Given the description of an element on the screen output the (x, y) to click on. 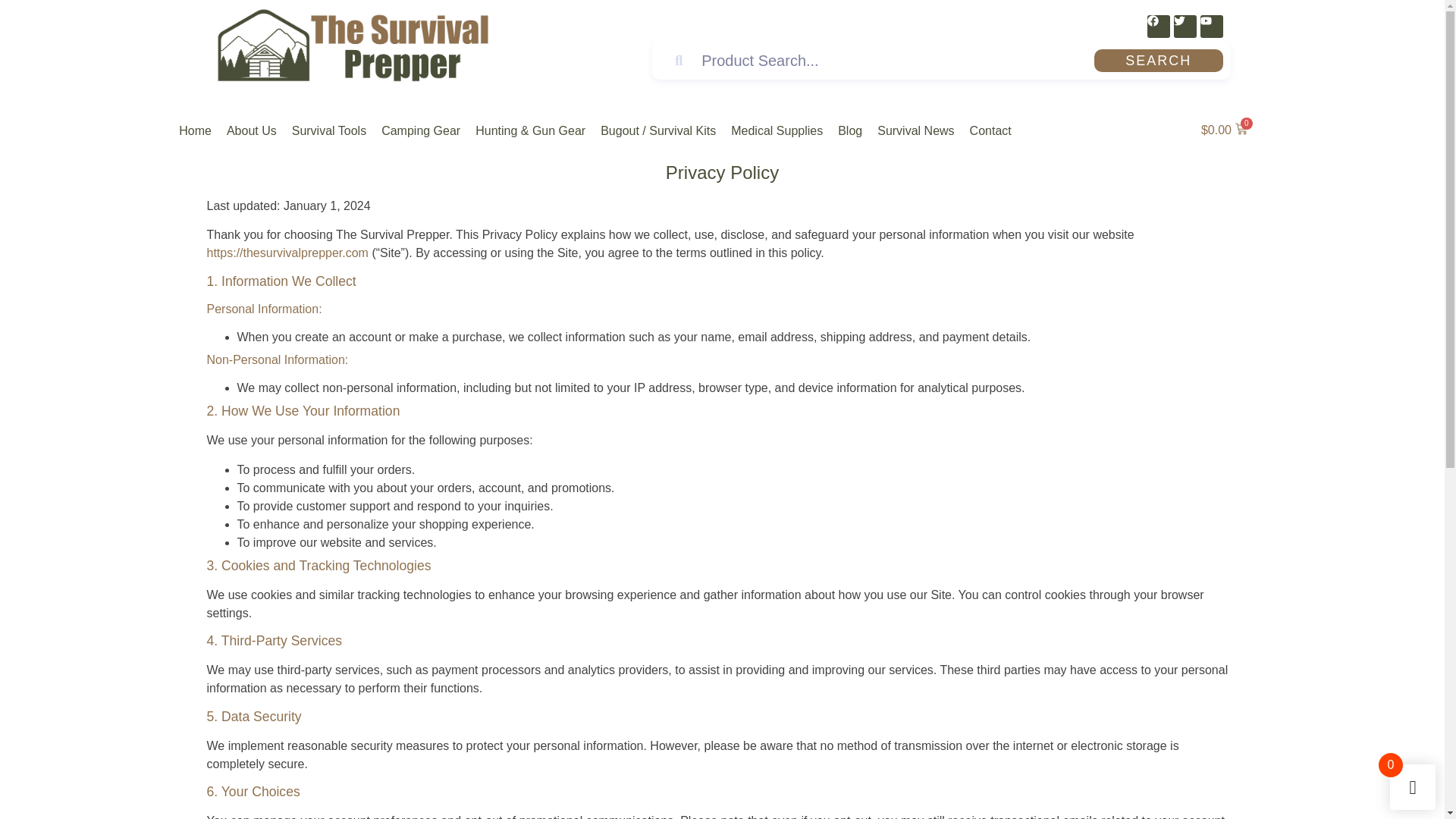
About Us (251, 130)
Medical Supplies (776, 130)
Survival Tools (329, 130)
Survival News (915, 130)
Home (195, 130)
Contact (990, 130)
SEARCH (1158, 60)
Camping Gear (420, 130)
